Given the description of an element on the screen output the (x, y) to click on. 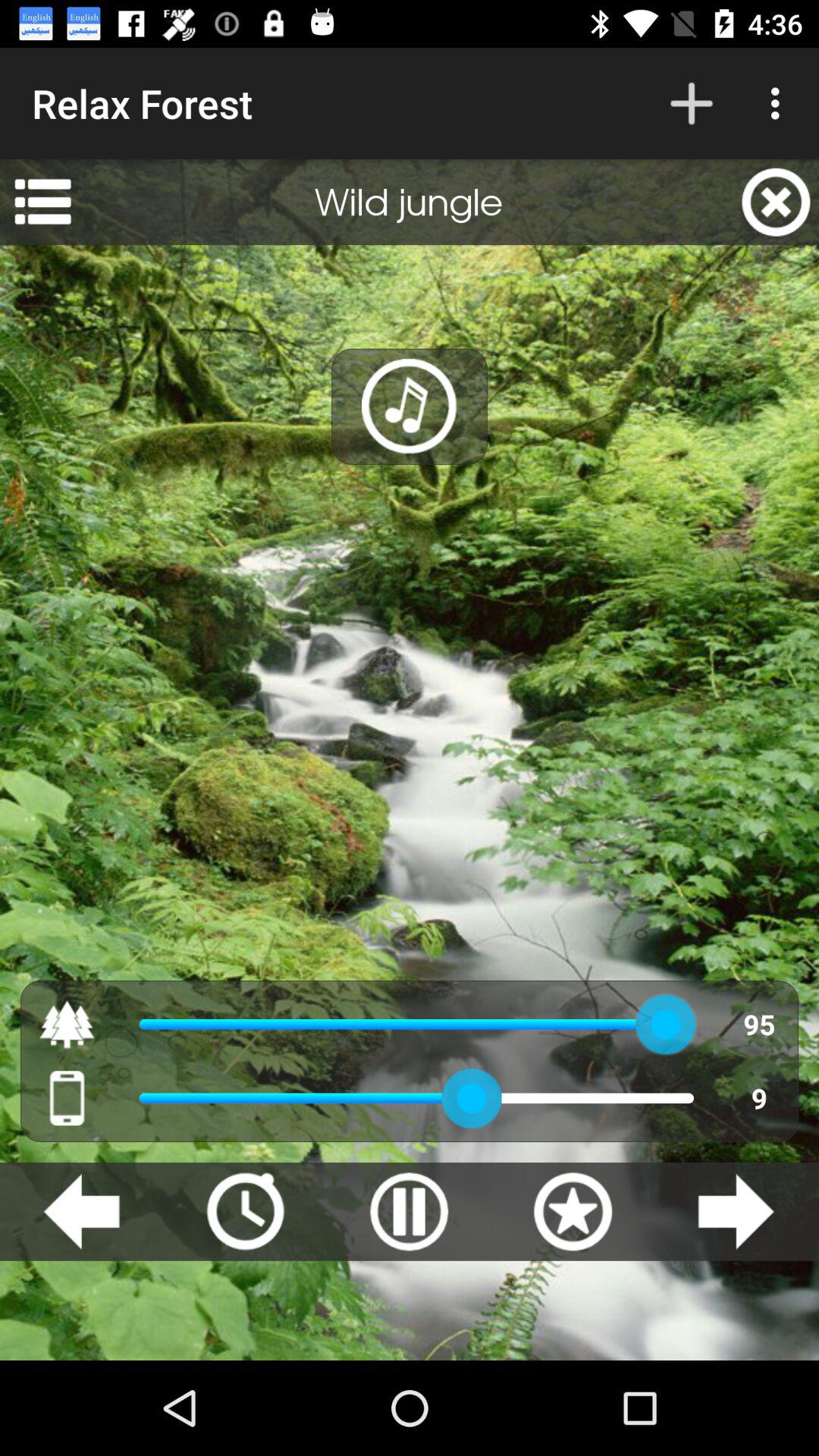
turn on the icon to the right of wild jungle icon (776, 202)
